Given the description of an element on the screen output the (x, y) to click on. 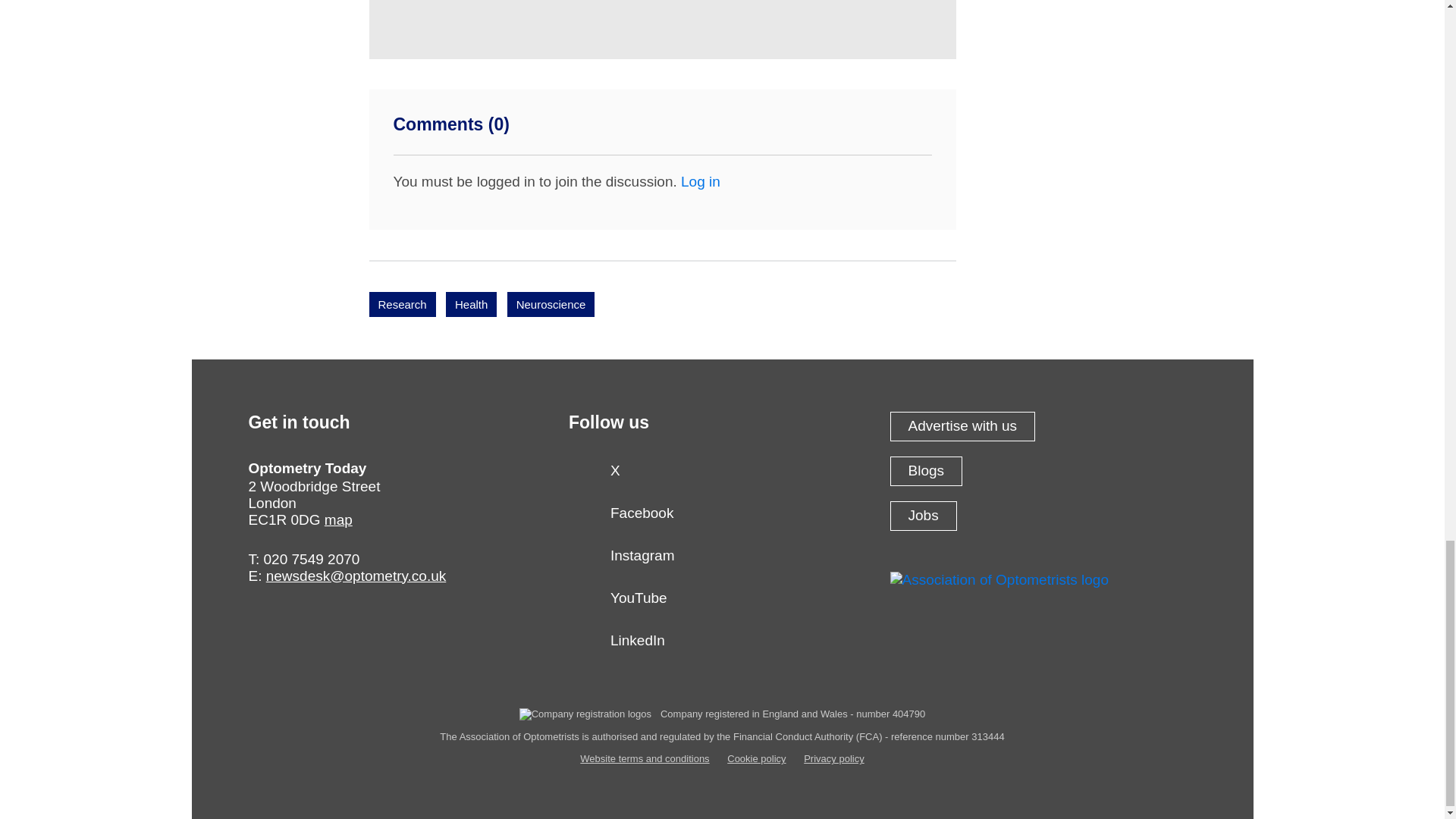
Connect with OT on LinkedIn (722, 644)
Follow Ot on Twitter (722, 475)
Find us on the map (338, 519)
Follow Ot on Facebook (722, 517)
